Given the description of an element on the screen output the (x, y) to click on. 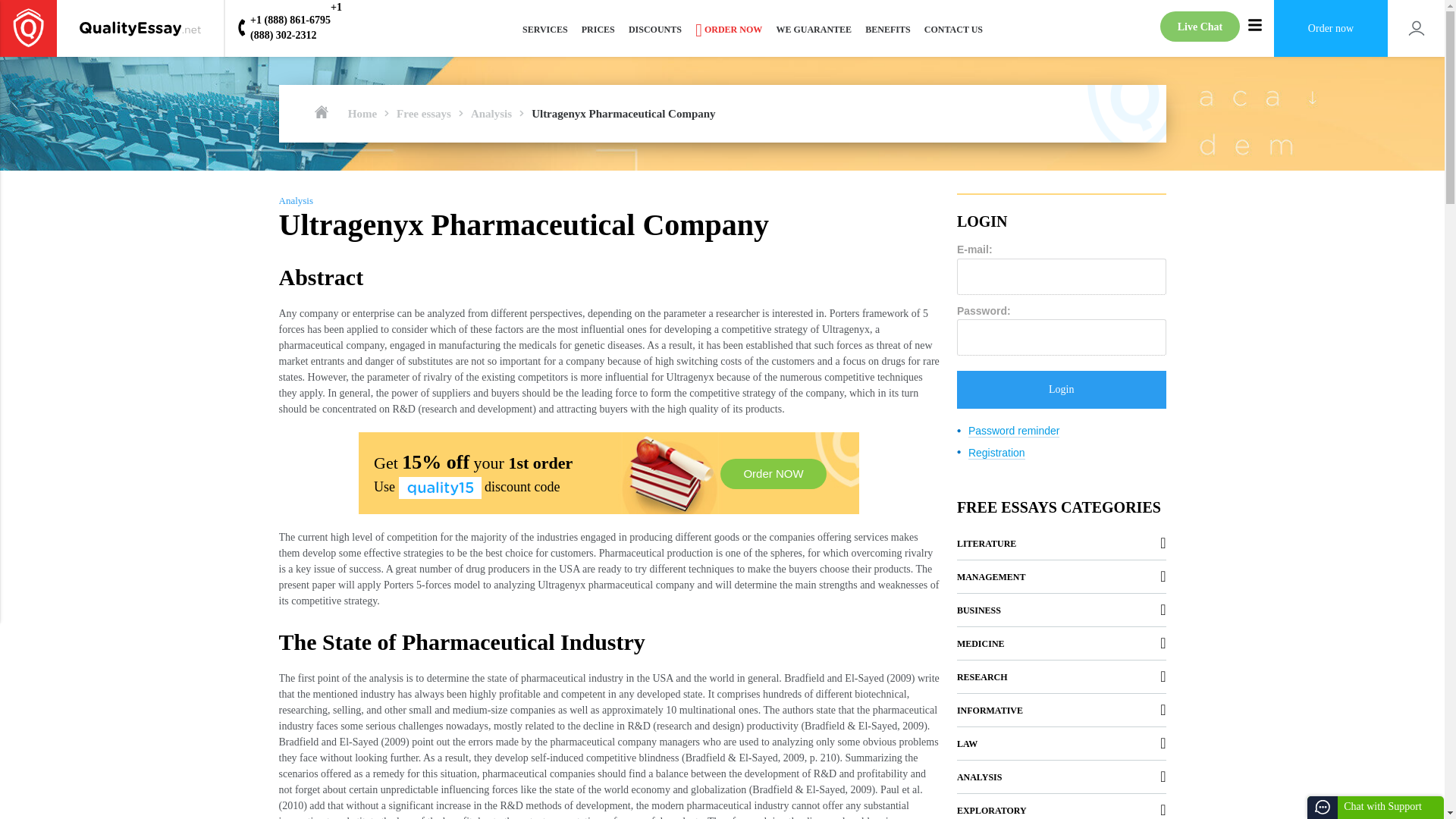
ORDER NOW (728, 29)
Discounts (655, 29)
CONTACT US (953, 29)
Order now (728, 29)
Order now (1330, 28)
Services (544, 29)
Benefits (887, 29)
DISCOUNTS (655, 29)
BENEFITS (887, 29)
We guarantee (813, 29)
SERVICES (544, 29)
Contact Us (953, 29)
Login (1061, 389)
WE GUARANTEE (813, 29)
Live Chat (1200, 26)
